Given the description of an element on the screen output the (x, y) to click on. 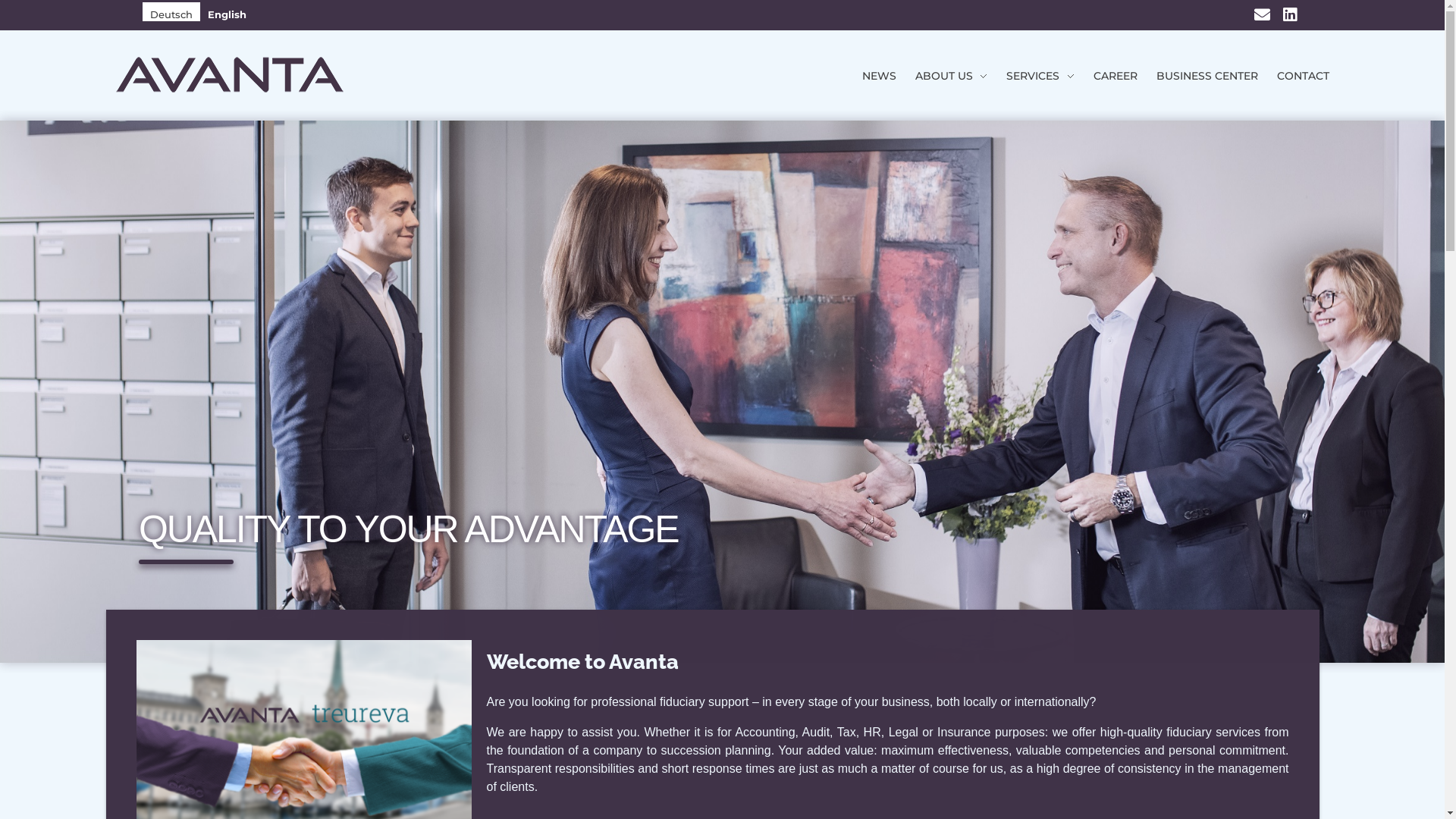
CAREER Element type: text (1104, 76)
English Element type: text (227, 11)
AVANTA Element type: text (151, 101)
ABOUT US Element type: text (941, 76)
AVANTA Element type: hover (228, 74)
SERVICES Element type: text (1030, 76)
BUSINESS CENTER Element type: text (1197, 76)
NEWS Element type: text (869, 76)
Deutsch Element type: text (171, 11)
CONTACT Element type: text (1292, 76)
